Given the description of an element on the screen output the (x, y) to click on. 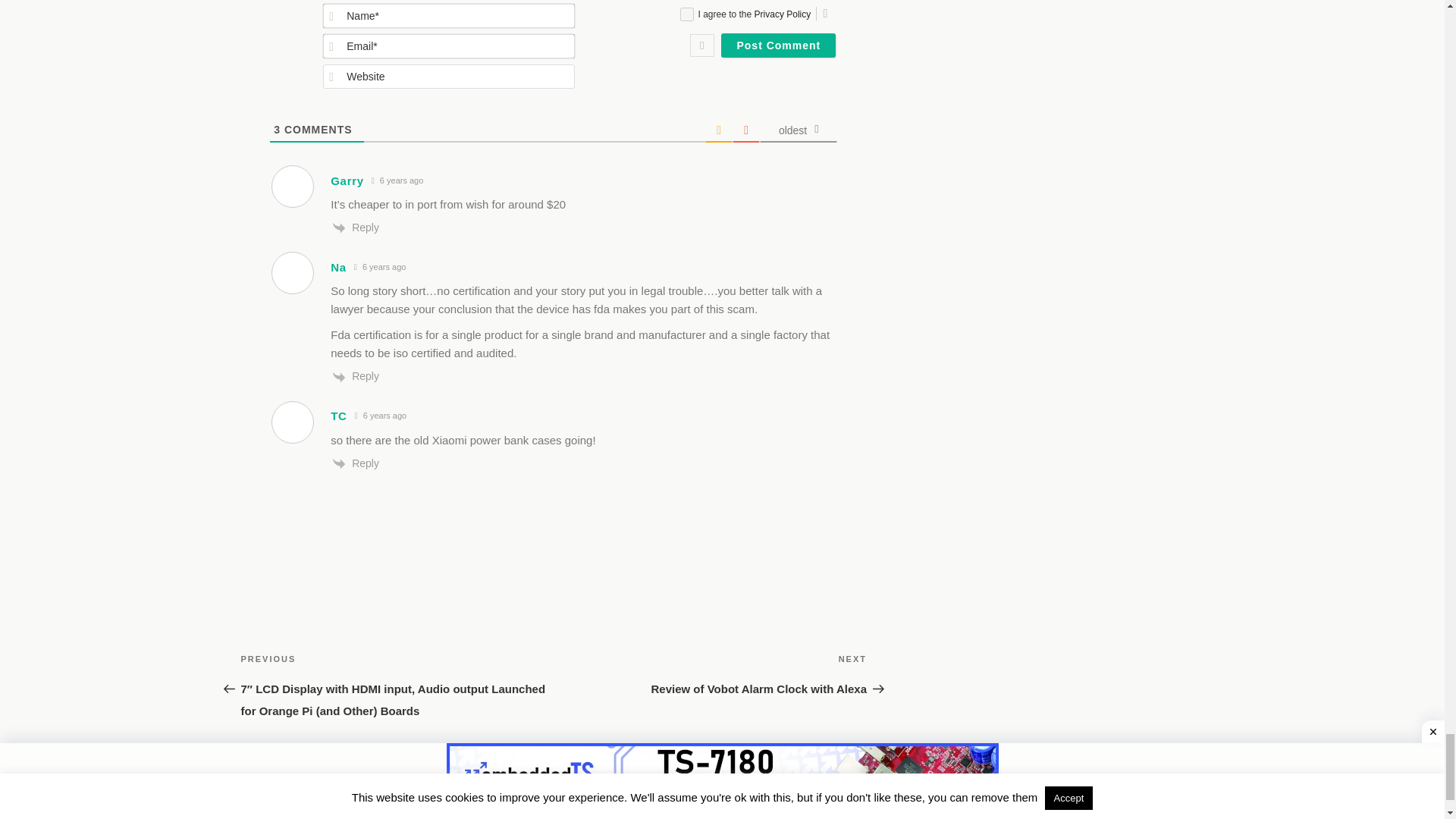
Post Comment (777, 45)
1 (686, 14)
